Given the description of an element on the screen output the (x, y) to click on. 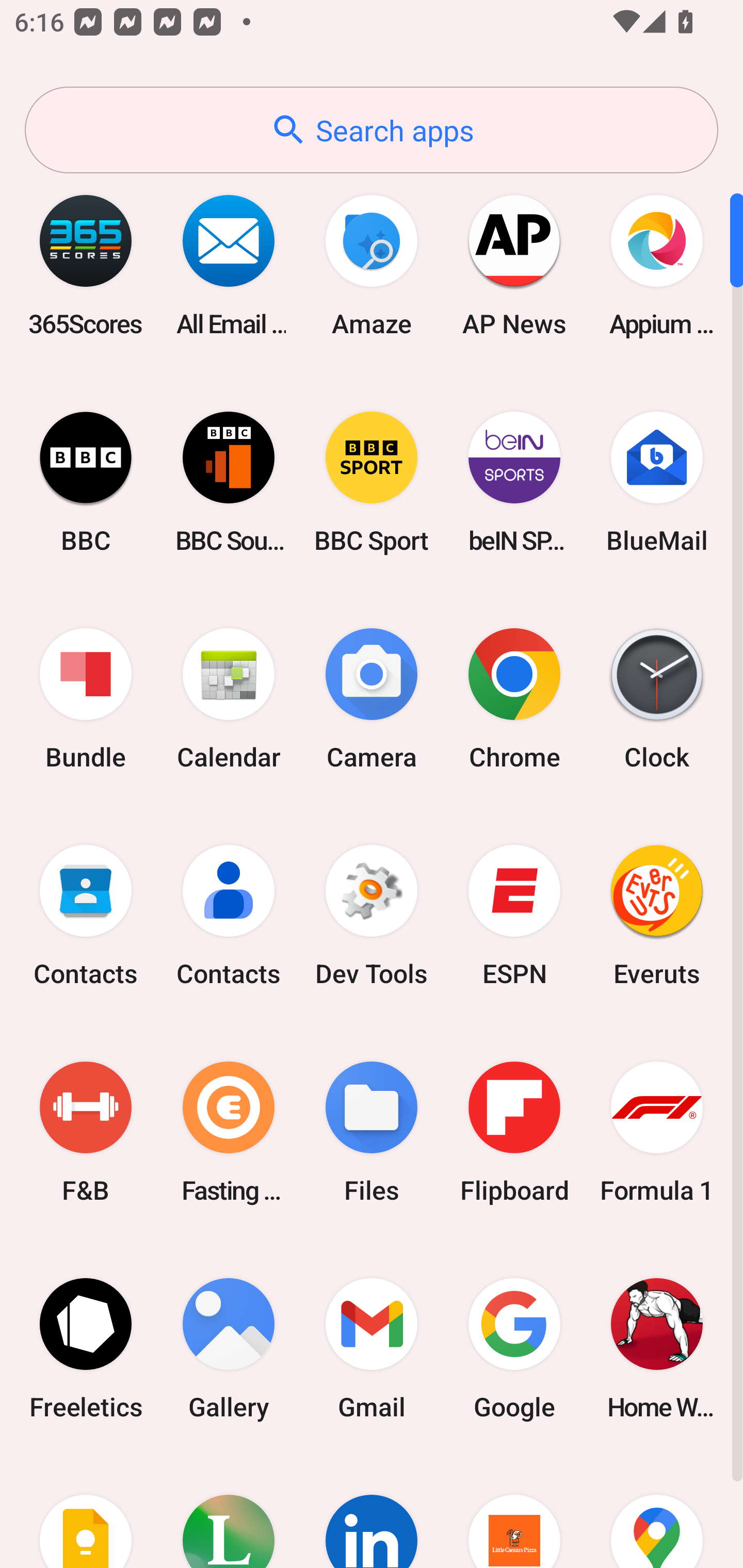
  Search apps (371, 130)
365Scores (85, 264)
All Email Connect (228, 264)
Amaze (371, 264)
AP News (514, 264)
Appium Settings (656, 264)
BBC (85, 482)
BBC Sounds (228, 482)
BBC Sport (371, 482)
beIN SPORTS (514, 482)
BlueMail (656, 482)
Bundle (85, 699)
Calendar (228, 699)
Camera (371, 699)
Chrome (514, 699)
Clock (656, 699)
Contacts (85, 915)
Contacts (228, 915)
Dev Tools (371, 915)
ESPN (514, 915)
Everuts (656, 915)
F&B (85, 1131)
Fasting Coach (228, 1131)
Files (371, 1131)
Flipboard (514, 1131)
Formula 1 (656, 1131)
Freeletics (85, 1348)
Gallery (228, 1348)
Gmail (371, 1348)
Google (514, 1348)
Home Workout (656, 1348)
Keep Notes (85, 1512)
Lifesum (228, 1512)
LinkedIn (371, 1512)
Little Caesars Pizza (514, 1512)
Maps (656, 1512)
